Given the description of an element on the screen output the (x, y) to click on. 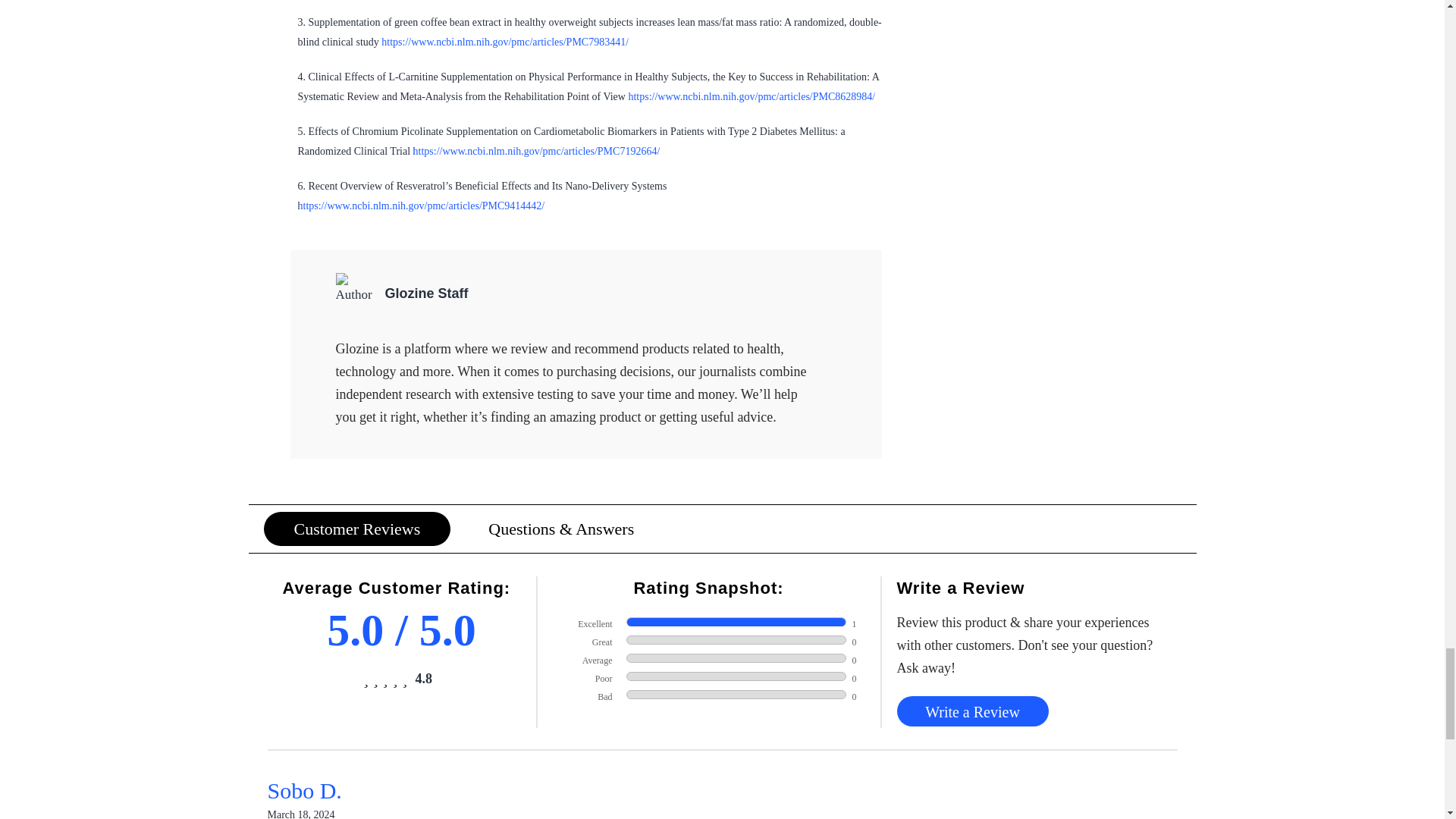
gorgeous (384, 678)
